Given the description of an element on the screen output the (x, y) to click on. 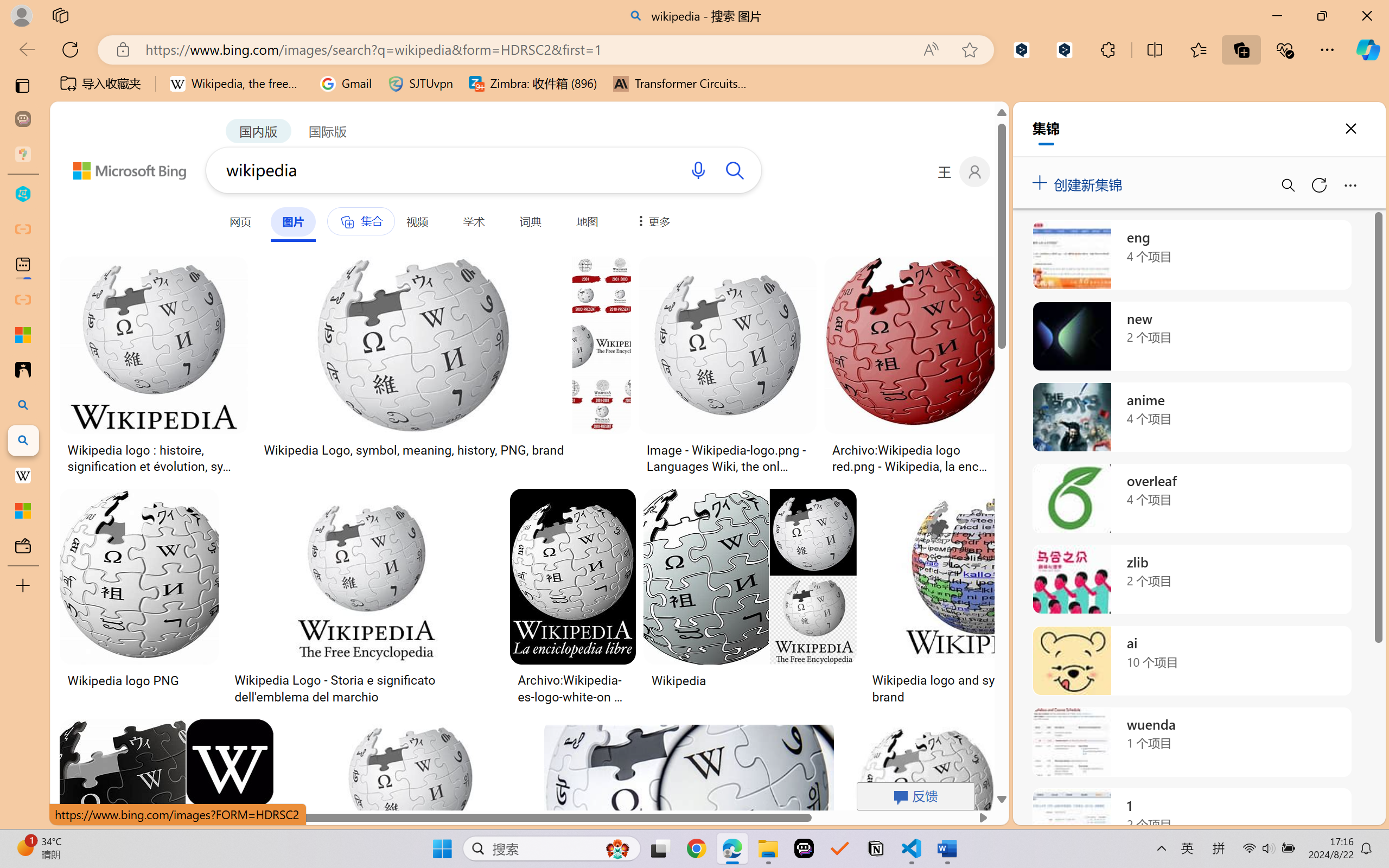
Insert Header Row (399, 60)
Group (380, 46)
Always Use Subtitles (482, 52)
